Given the description of an element on the screen output the (x, y) to click on. 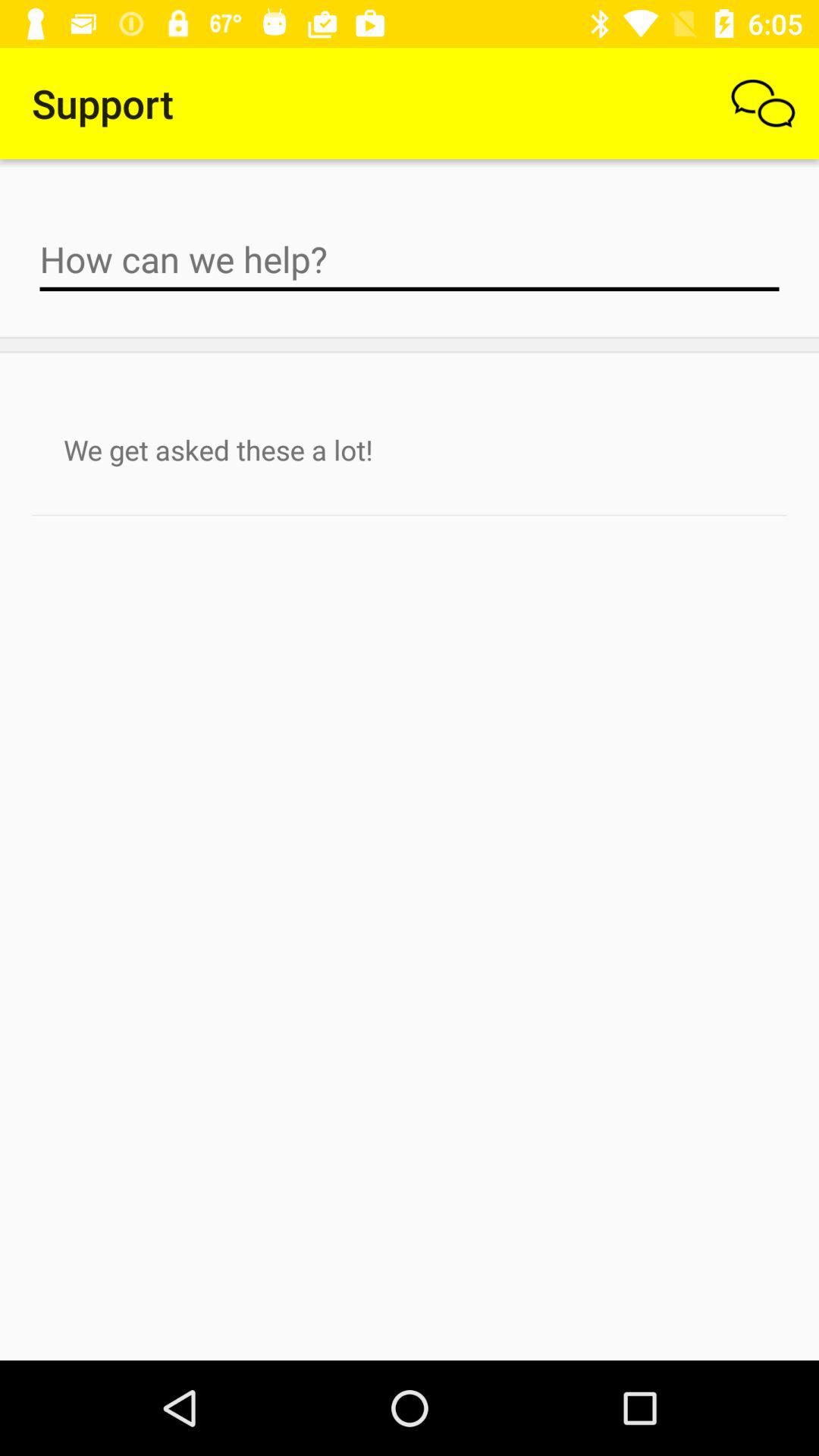
select item at the top right corner (763, 103)
